Given the description of an element on the screen output the (x, y) to click on. 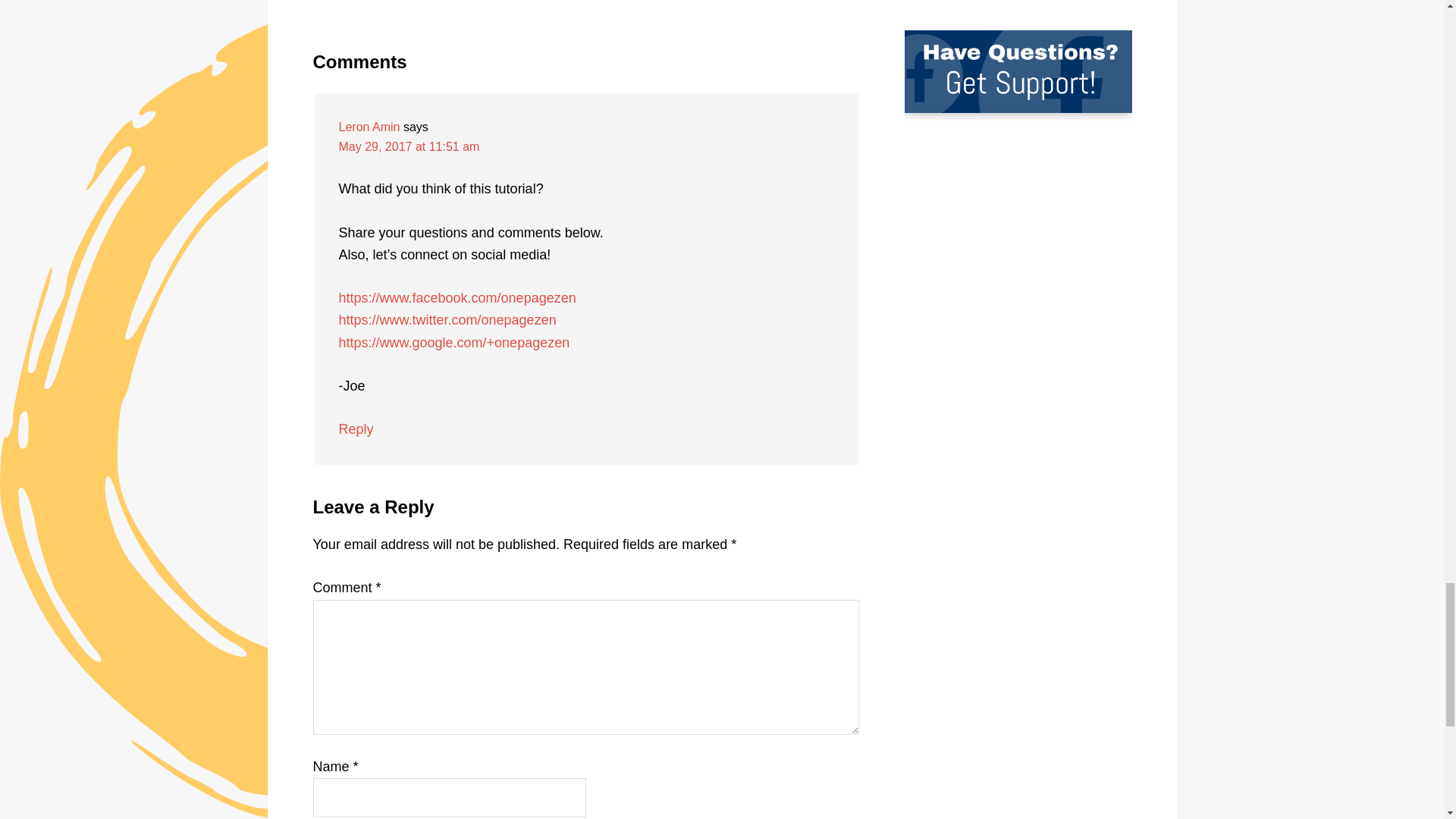
Leron Amin (367, 126)
May 29, 2017 at 11:51 am (408, 146)
